Given the description of an element on the screen output the (x, y) to click on. 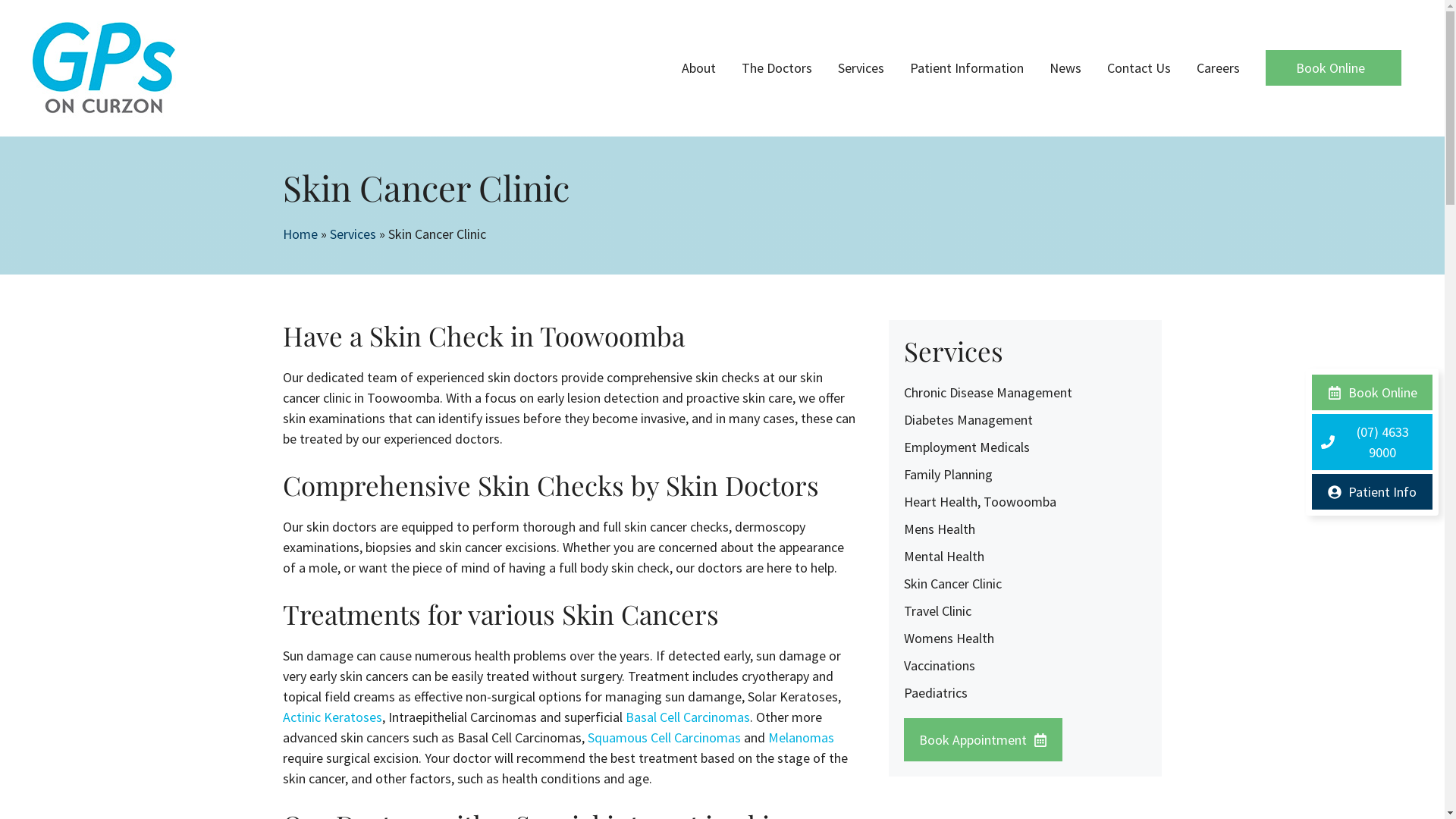
News Element type: text (1065, 68)
Home Element type: text (299, 233)
Heart Health, Toowoomba Element type: text (979, 501)
Squamous Cell Carcinomas Element type: text (663, 737)
Melanomas Element type: text (800, 737)
Basal Cell Carcinomas Element type: text (686, 716)
Mens Health Element type: text (939, 528)
Patient Info Element type: text (1371, 491)
Actinic Keratoses Element type: text (331, 716)
Employment Medicals Element type: text (966, 446)
Family Planning Element type: text (947, 474)
The Doctors Element type: text (776, 68)
Patient Information Element type: text (966, 68)
Skin Cancer Clinic Element type: text (952, 583)
Mental Health Element type: text (943, 556)
(07) 4633 9000 Element type: text (1371, 442)
Paediatrics Element type: text (935, 692)
Diabetes Management Element type: text (967, 419)
Services Element type: text (861, 68)
Vaccinations Element type: text (939, 665)
About Element type: text (698, 68)
Book Appointment Element type: text (982, 739)
Womens Health Element type: text (948, 637)
Book Online Element type: text (1333, 68)
Services Element type: text (352, 233)
Contact Us Element type: text (1138, 68)
Travel Clinic Element type: text (937, 610)
Careers Element type: text (1217, 68)
Book Online Element type: text (1371, 392)
Chronic Disease Management Element type: text (987, 392)
